Given the description of an element on the screen output the (x, y) to click on. 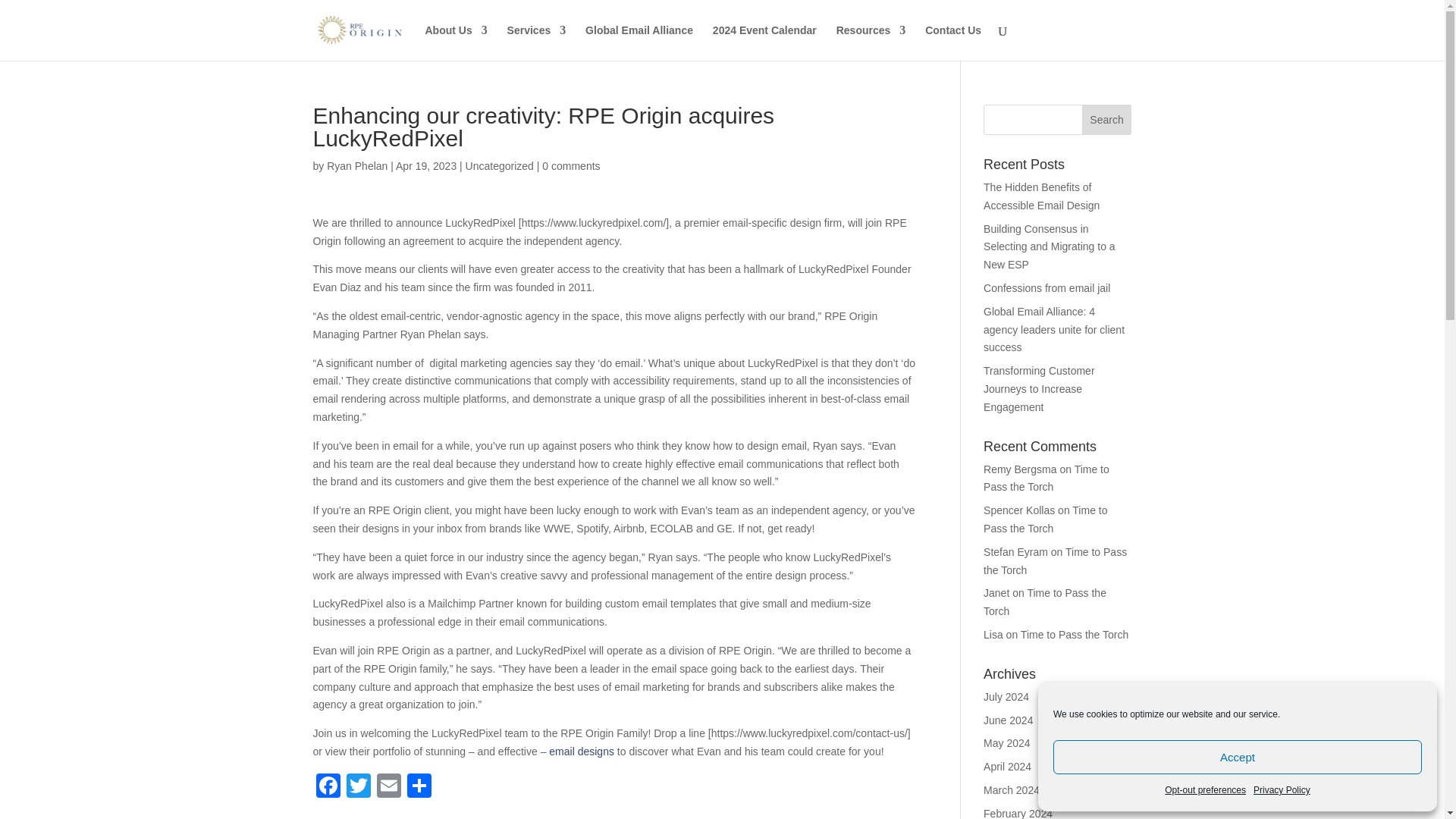
Global Email Alliance (639, 42)
Contact Us (952, 42)
Privacy Policy (1281, 791)
Resources (870, 42)
Services (536, 42)
Opt-out preferences (1205, 791)
Accept (1237, 756)
Posts by Ryan Phelan (356, 165)
About Us (455, 42)
Email (387, 787)
2024 Event Calendar (764, 42)
Twitter (357, 787)
Search (1106, 119)
Facebook (327, 787)
